Given the description of an element on the screen output the (x, y) to click on. 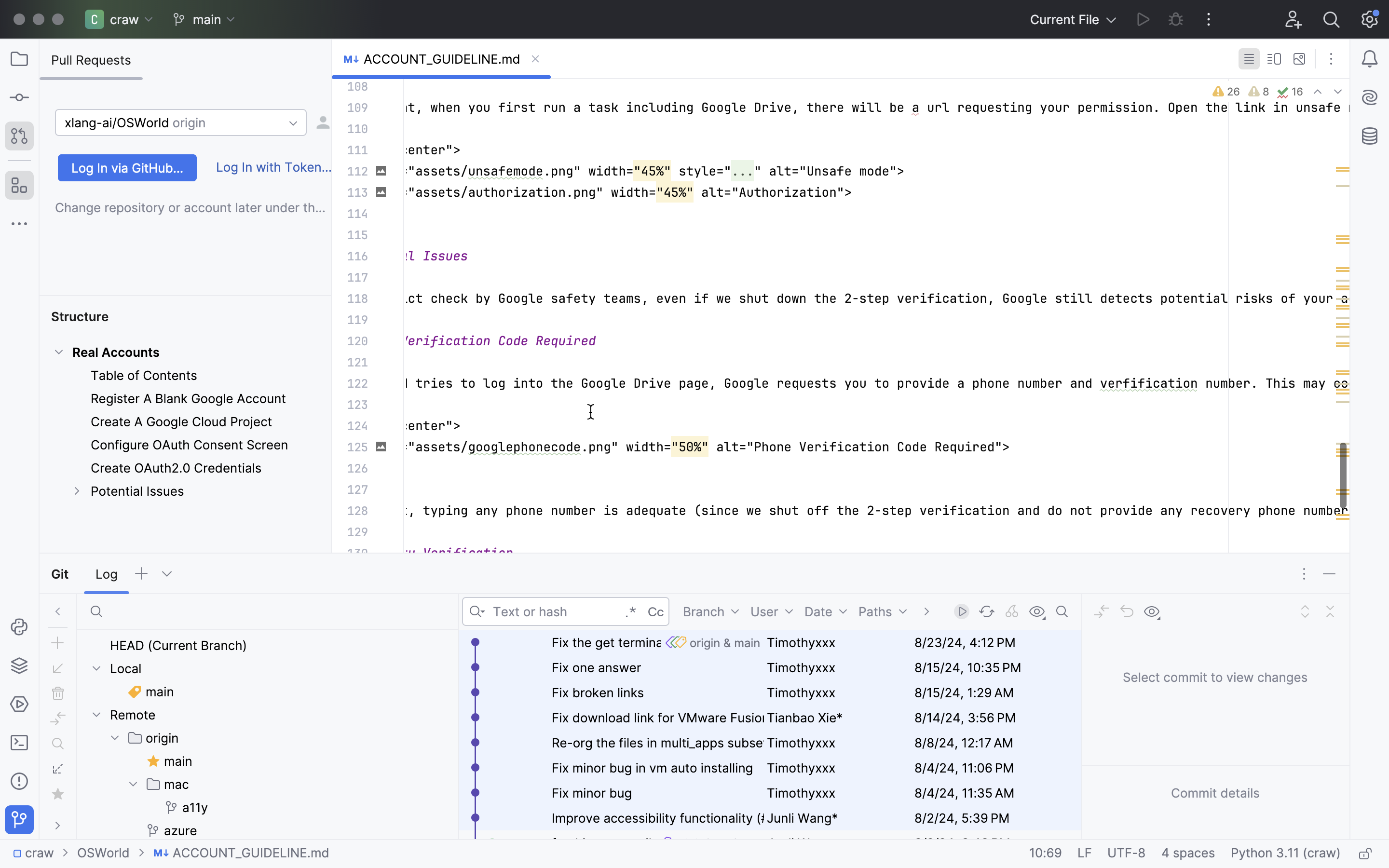
Python 3.11 (craw) Element type: AXStaticText (1285, 854)
azure Element type: AXStaticText (171, 829)
LF Element type: AXStaticText (1084, 854)
UTF-8 Element type: AXStaticText (1126, 854)
